Given the description of an element on the screen output the (x, y) to click on. 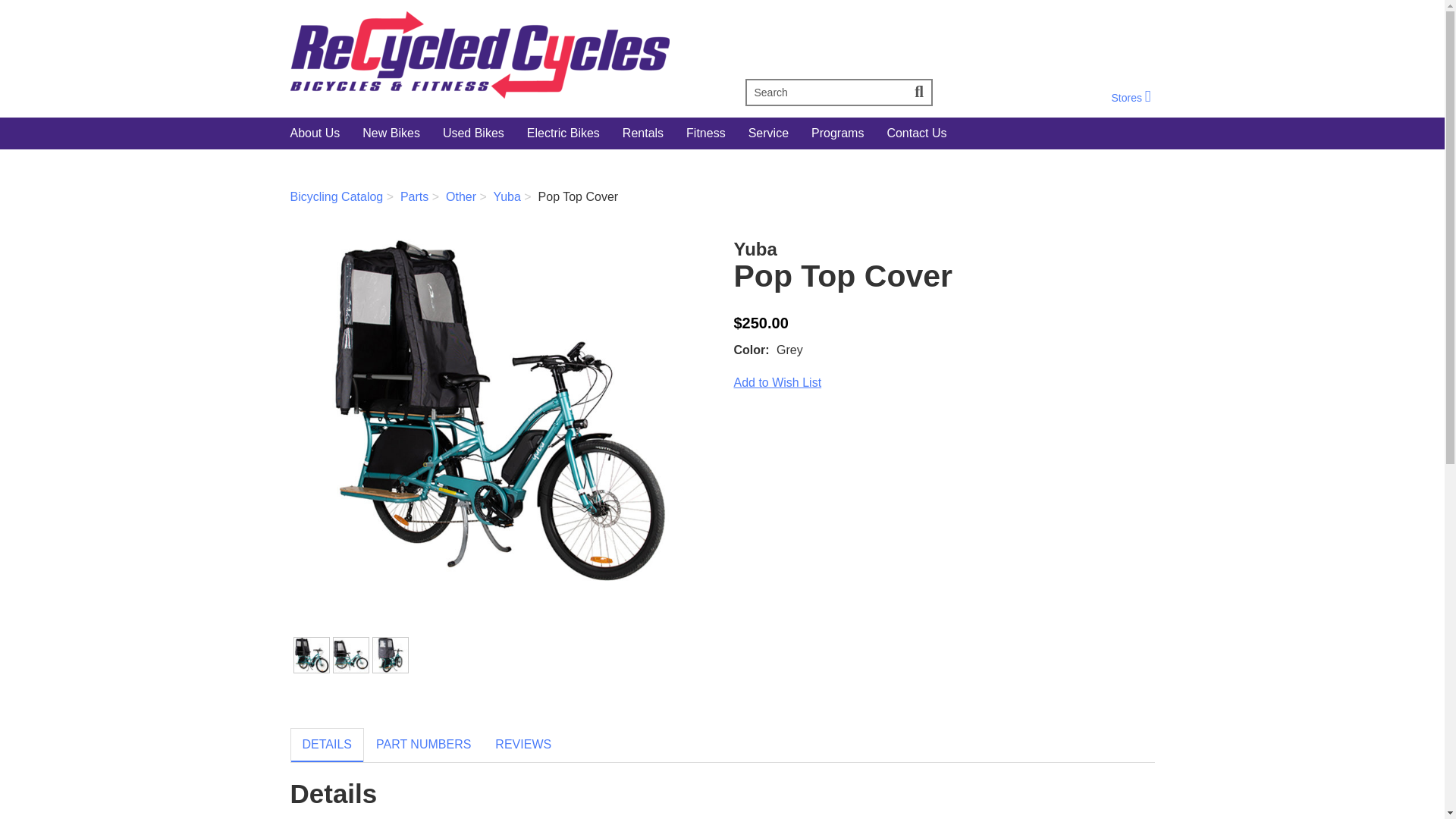
Search (1130, 97)
DETAILS (920, 92)
Recycled Cycles Bicycles and Fitness Home Page (326, 745)
New Bikes (499, 54)
Add to Wish List (390, 132)
Other (777, 382)
Search (460, 196)
Service (825, 92)
Yuba Pop Top Cover (767, 132)
